Given the description of an element on the screen output the (x, y) to click on. 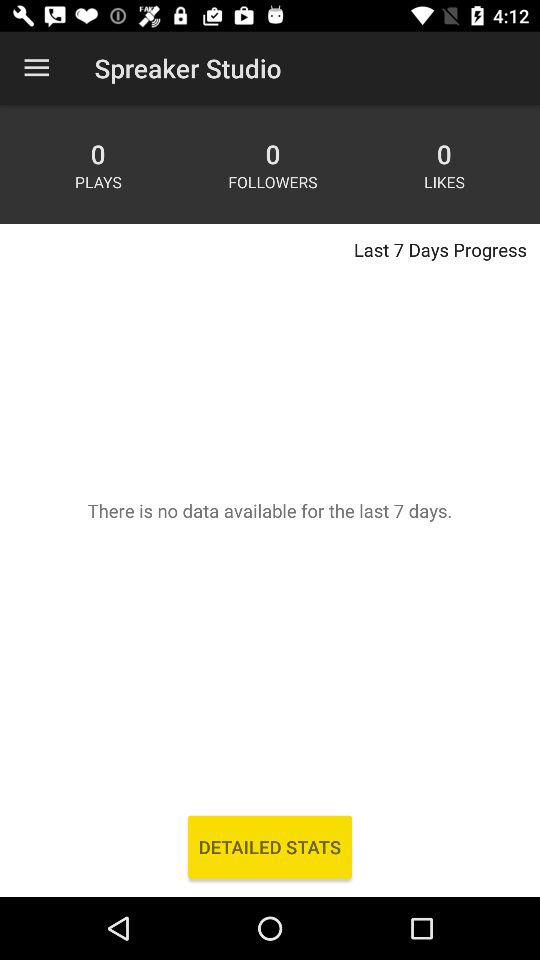
flip to detailed stats item (269, 846)
